Given the description of an element on the screen output the (x, y) to click on. 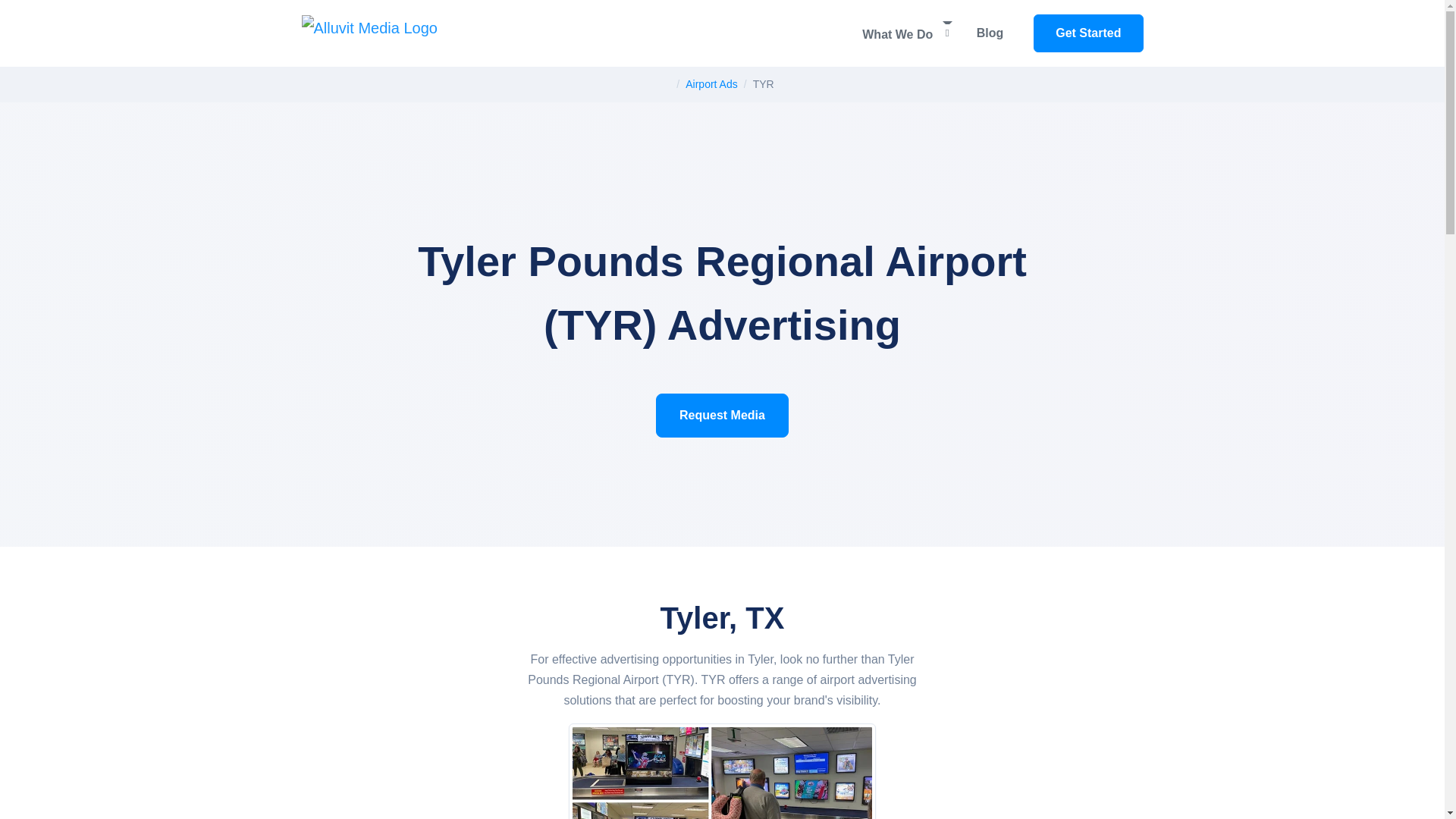
What We Do (906, 33)
Blog (989, 32)
Get Started (1087, 33)
Airport Ads (710, 83)
Request Media (722, 415)
